Given the description of an element on the screen output the (x, y) to click on. 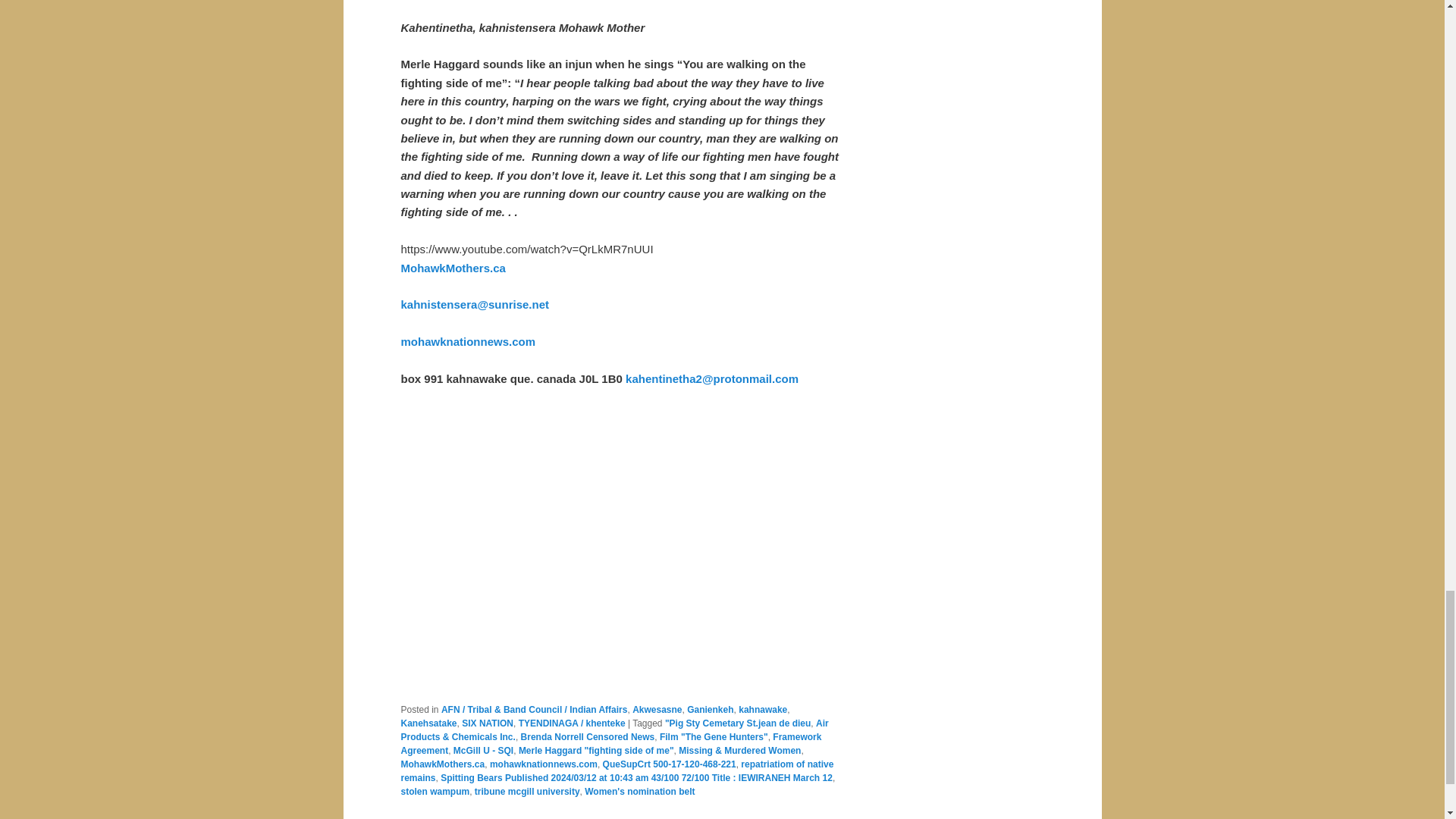
MohawkMothers.ca (452, 267)
Film "The Gene Hunters" (713, 737)
"Pig Sty Cemetary St.jean de dieu (737, 723)
Akwesasne (656, 709)
mohawknationnews.com (467, 341)
SIX NATION (487, 723)
Ganienkeh (710, 709)
Framework Agreement (610, 743)
kahnawake (762, 709)
Kanehsatake (428, 723)
Brenda Norrell Censored News (588, 737)
